Given the description of an element on the screen output the (x, y) to click on. 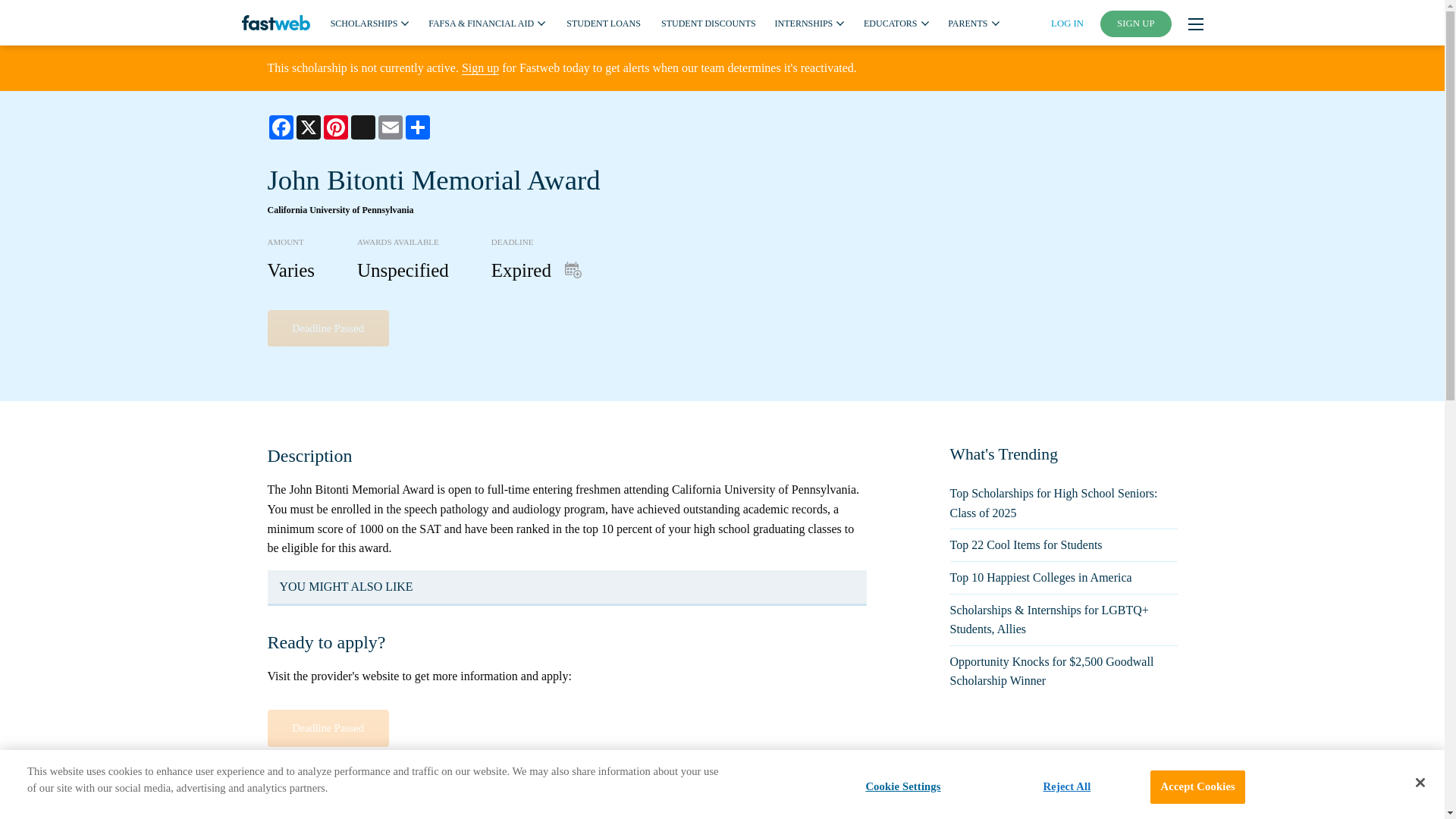
STUDENT LOANS (603, 22)
LOG IN (1067, 23)
SIGN UP (1136, 23)
STUDENT DISCOUNTS (708, 22)
